Given the description of an element on the screen output the (x, y) to click on. 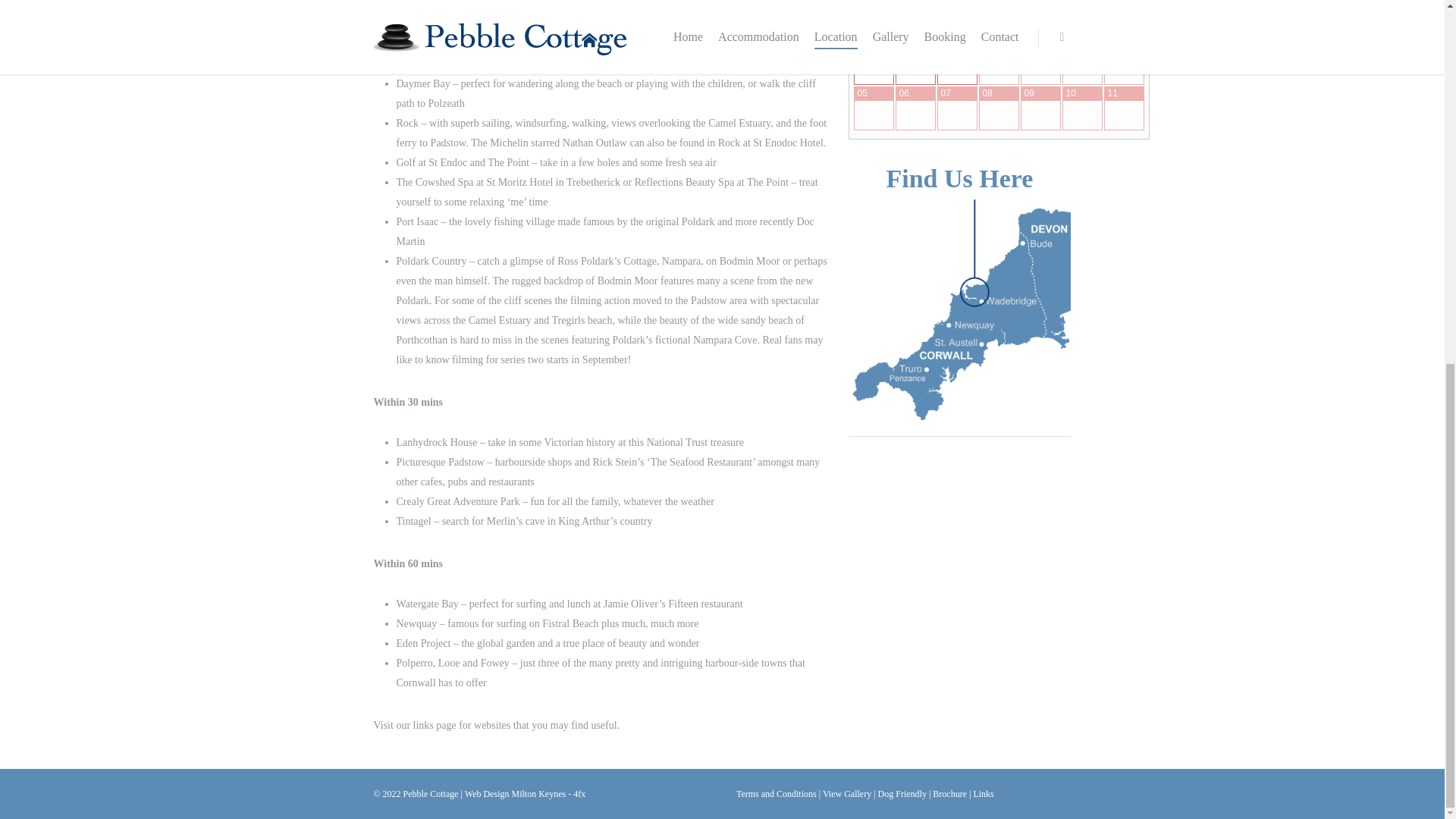
Web Design Milton Keynes (515, 793)
Dog Friendly (901, 793)
Links (982, 793)
Terms and Conditions (776, 793)
View Gallery (846, 793)
Brochure (949, 793)
